Given the description of an element on the screen output the (x, y) to click on. 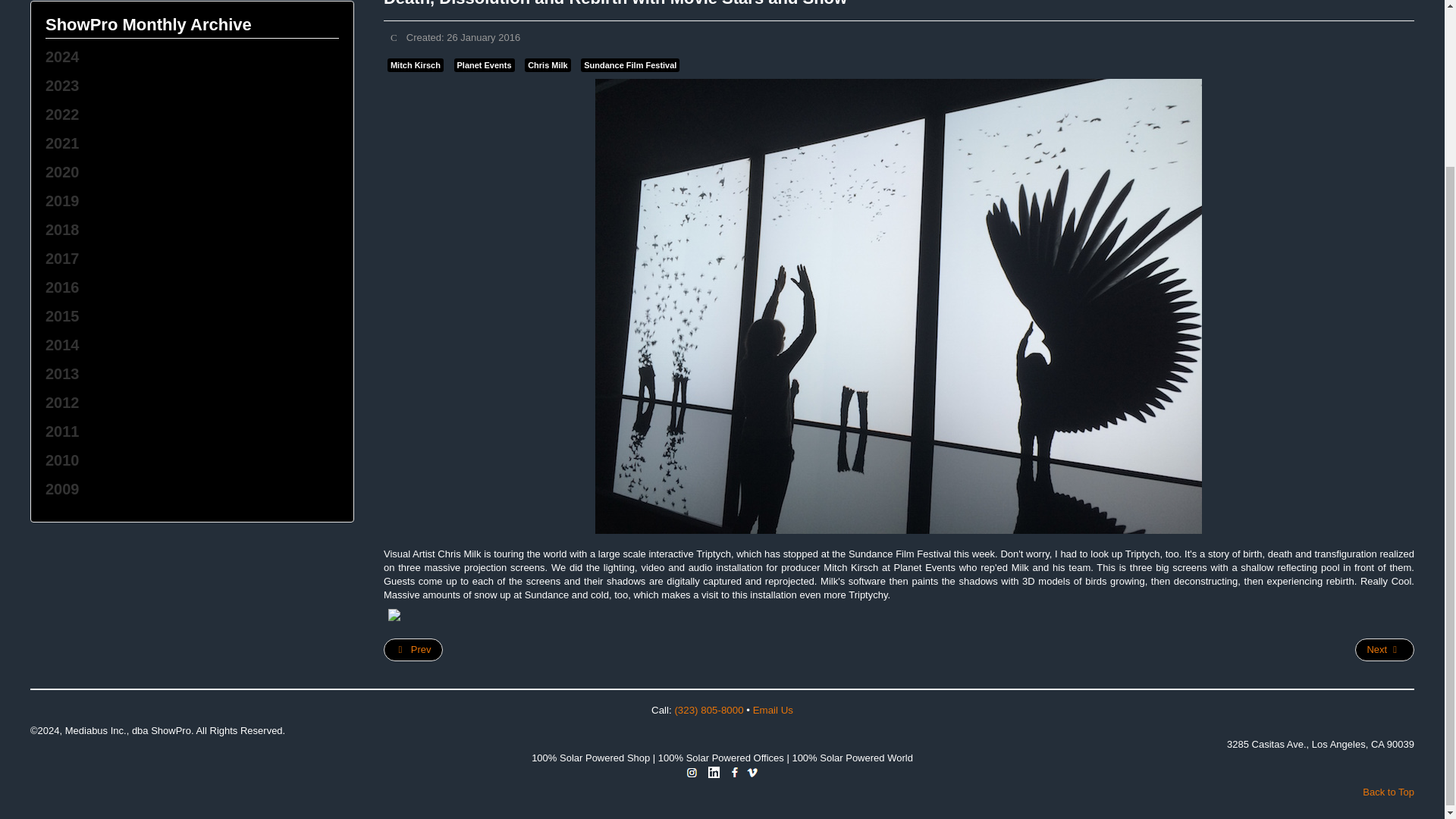
Email Us (772, 709)
Back to Top (1387, 791)
Vimeo (751, 771)
Sundance Film Festival (629, 65)
Prev (413, 649)
Next (1384, 649)
Chris Milk (547, 65)
Mitch Kirsch (415, 65)
Instagram (691, 771)
LinkedIn (713, 771)
Planet Events (482, 65)
